Given the description of an element on the screen output the (x, y) to click on. 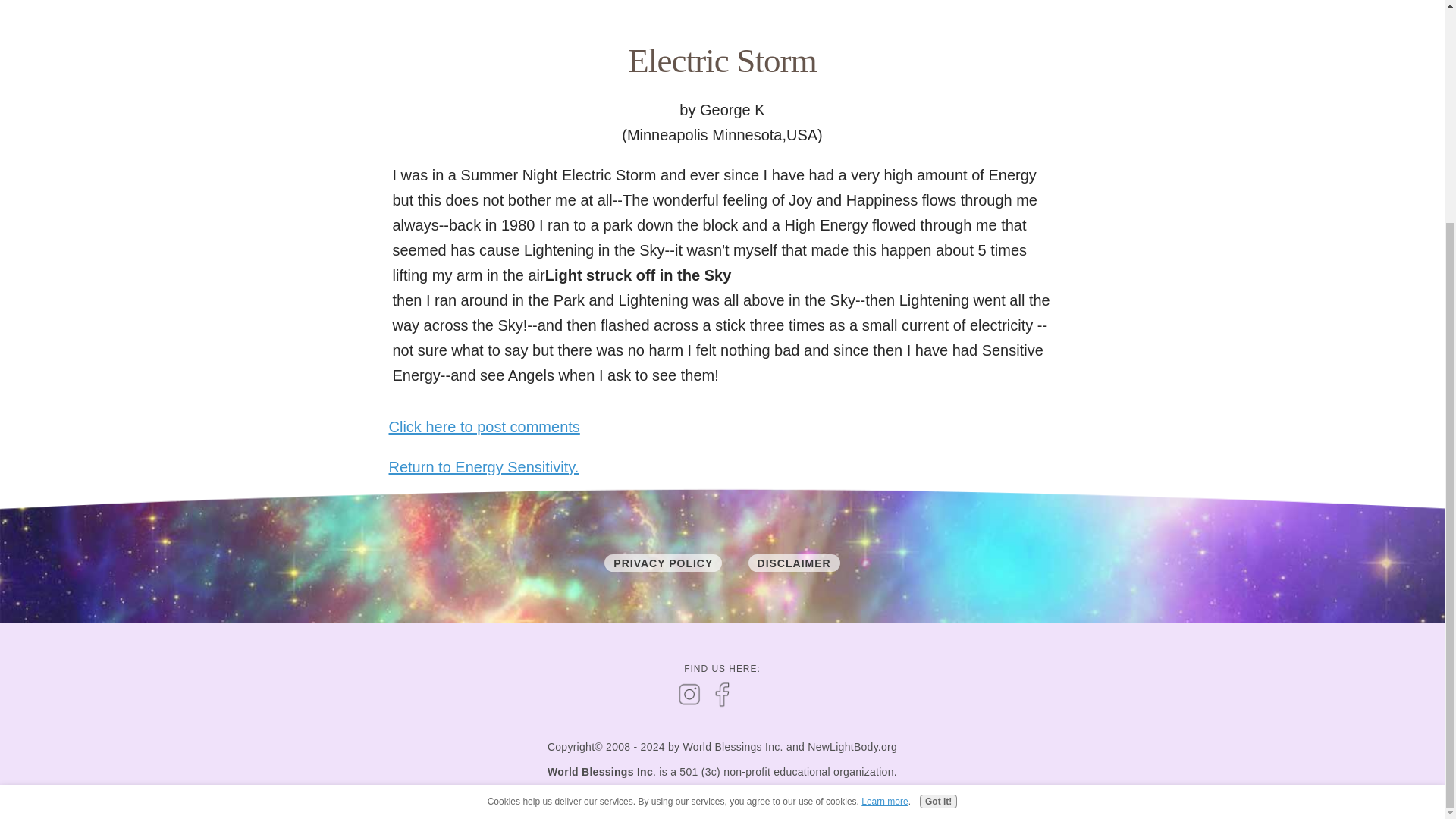
DISCLAIMER (794, 562)
Learn more (884, 504)
PRIVACY POLICY (663, 562)
Click here to post comments (483, 426)
Got it! (938, 504)
World Blessings Inc (599, 771)
Return to Energy Sensitivity. (483, 466)
